Given the description of an element on the screen output the (x, y) to click on. 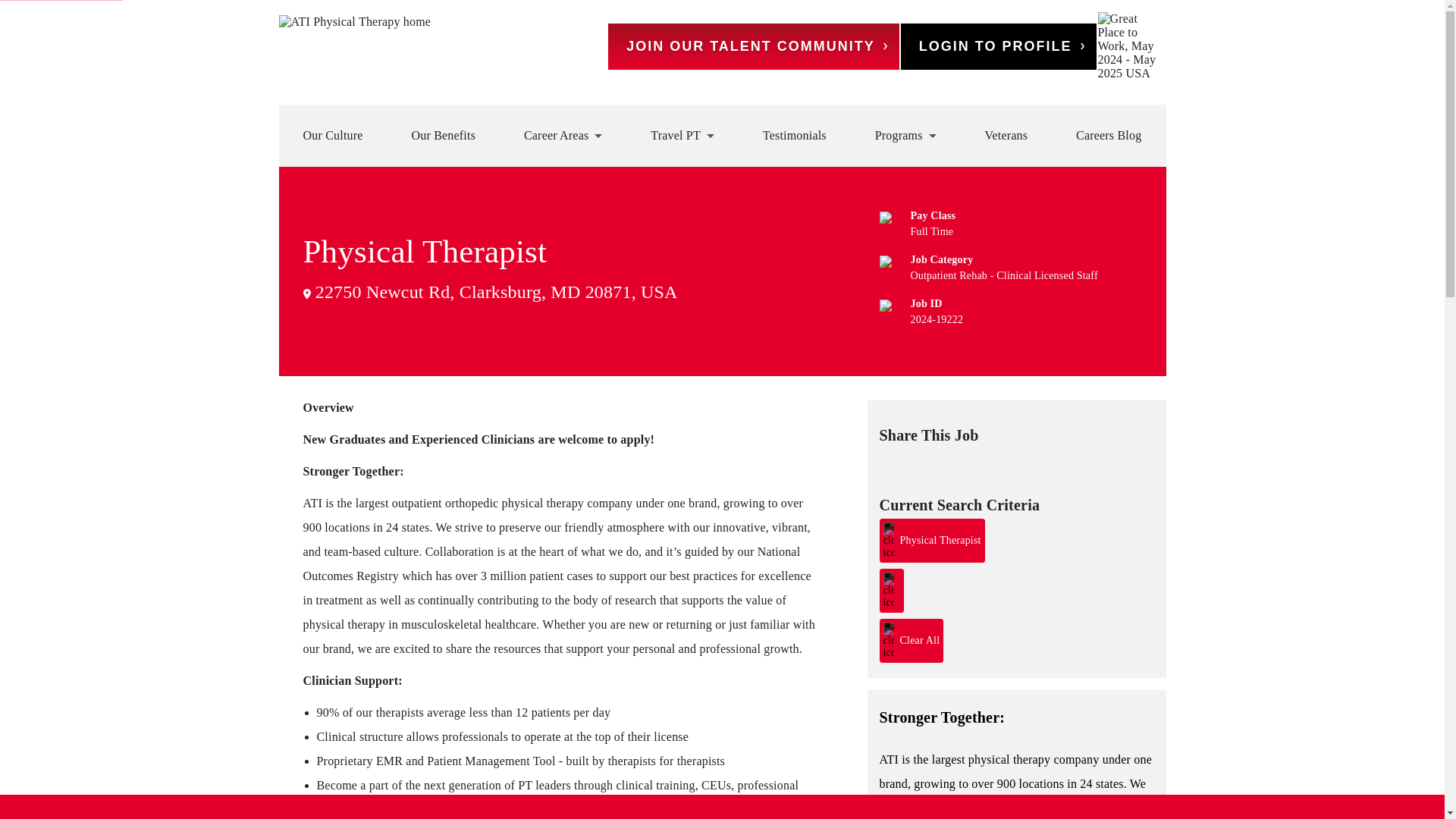
22750 Newcut Rd, Clarksburg, MD 20871, USA (490, 291)
Our Benefits (443, 134)
Career Areas (563, 135)
JOIN OUR TALENT COMMUNITY (753, 45)
Testimonials (794, 134)
Physical Therapist (932, 540)
Clear All (911, 640)
LOGIN TO PROFILE (998, 45)
Veterans (1005, 134)
Careers Blog (1108, 134)
